Given the description of an element on the screen output the (x, y) to click on. 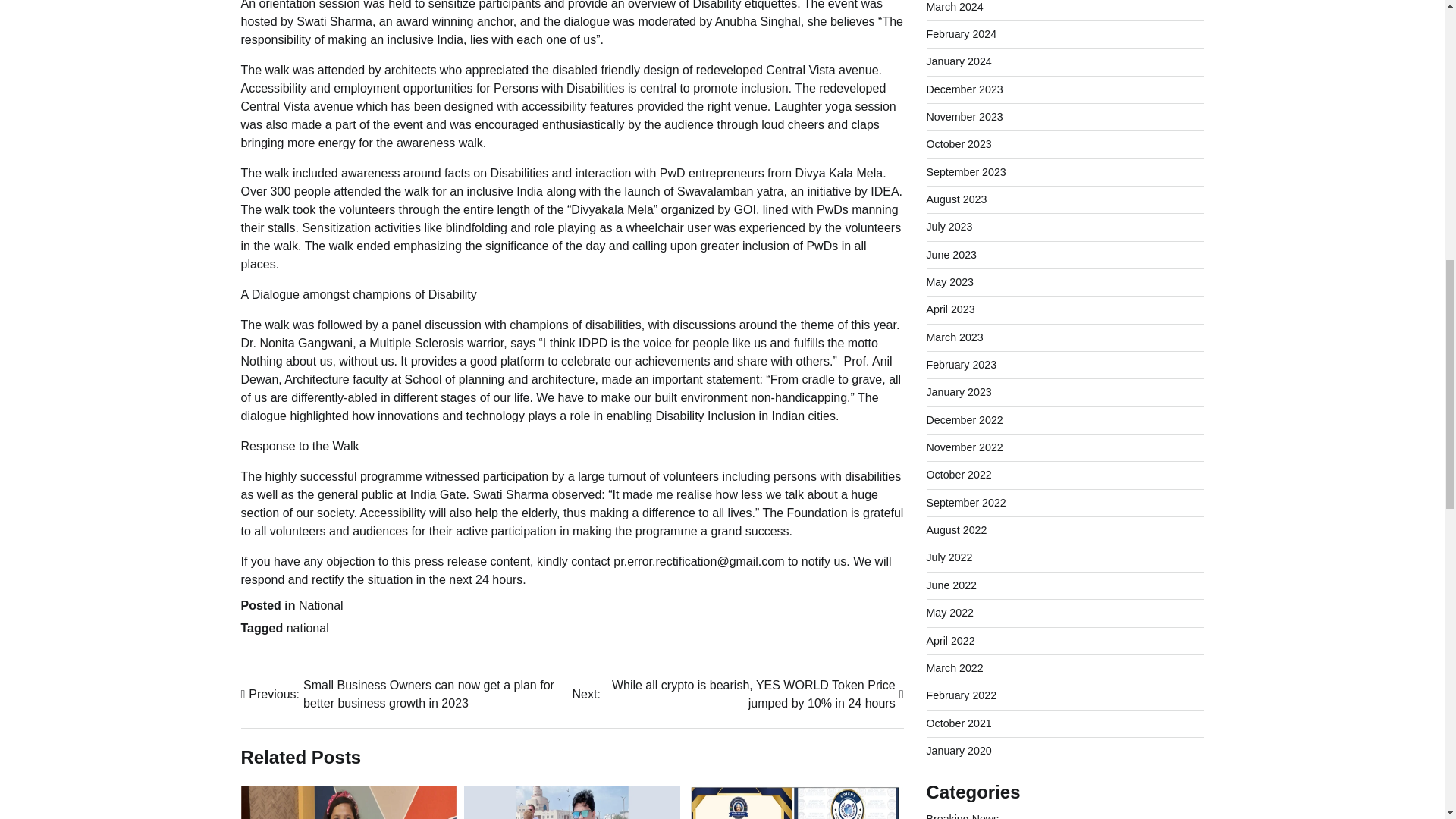
national (307, 627)
National (320, 604)
